Given the description of an element on the screen output the (x, y) to click on. 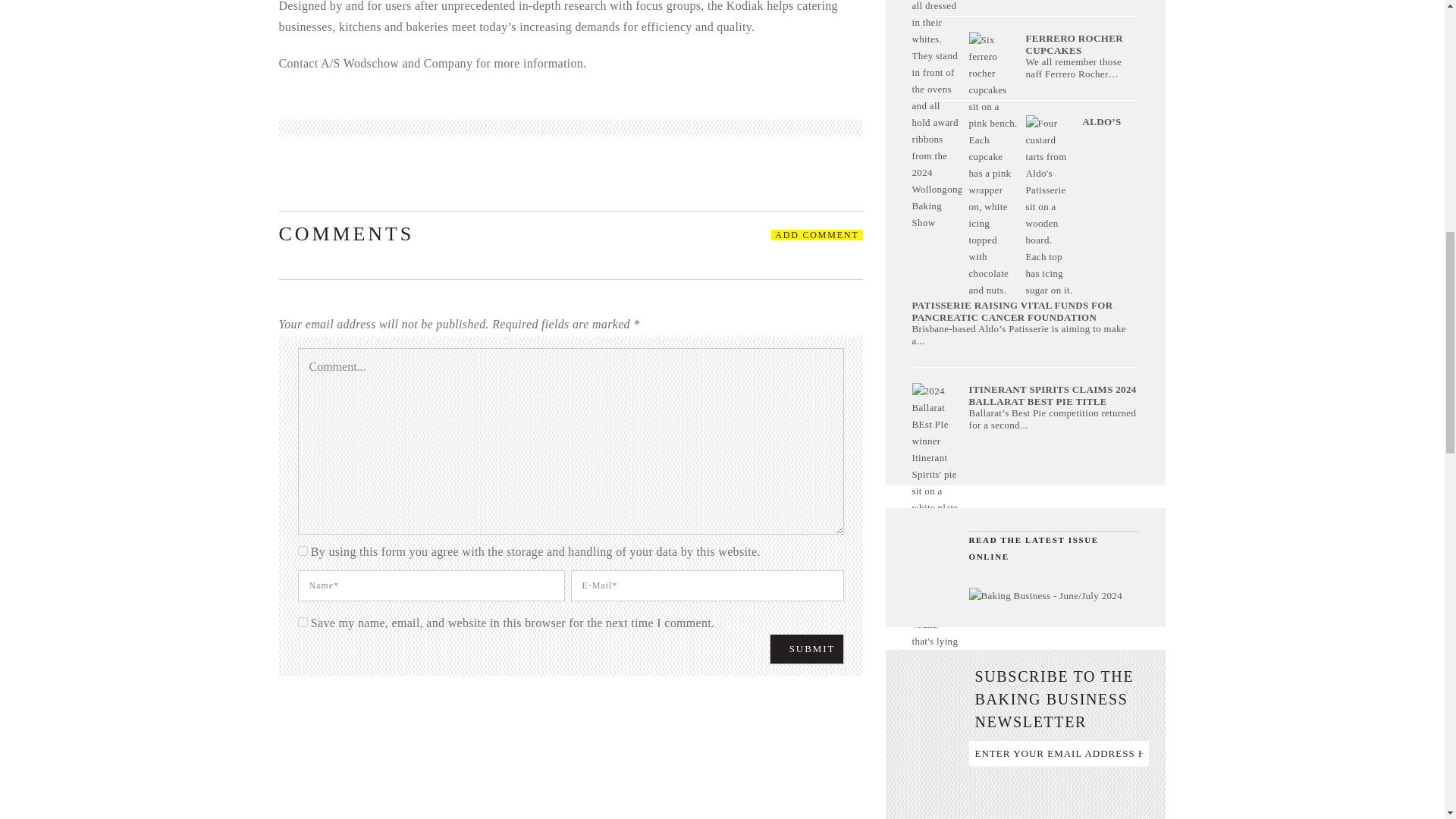
yes (302, 622)
Submit (807, 648)
privacy-key (302, 551)
